Given the description of an element on the screen output the (x, y) to click on. 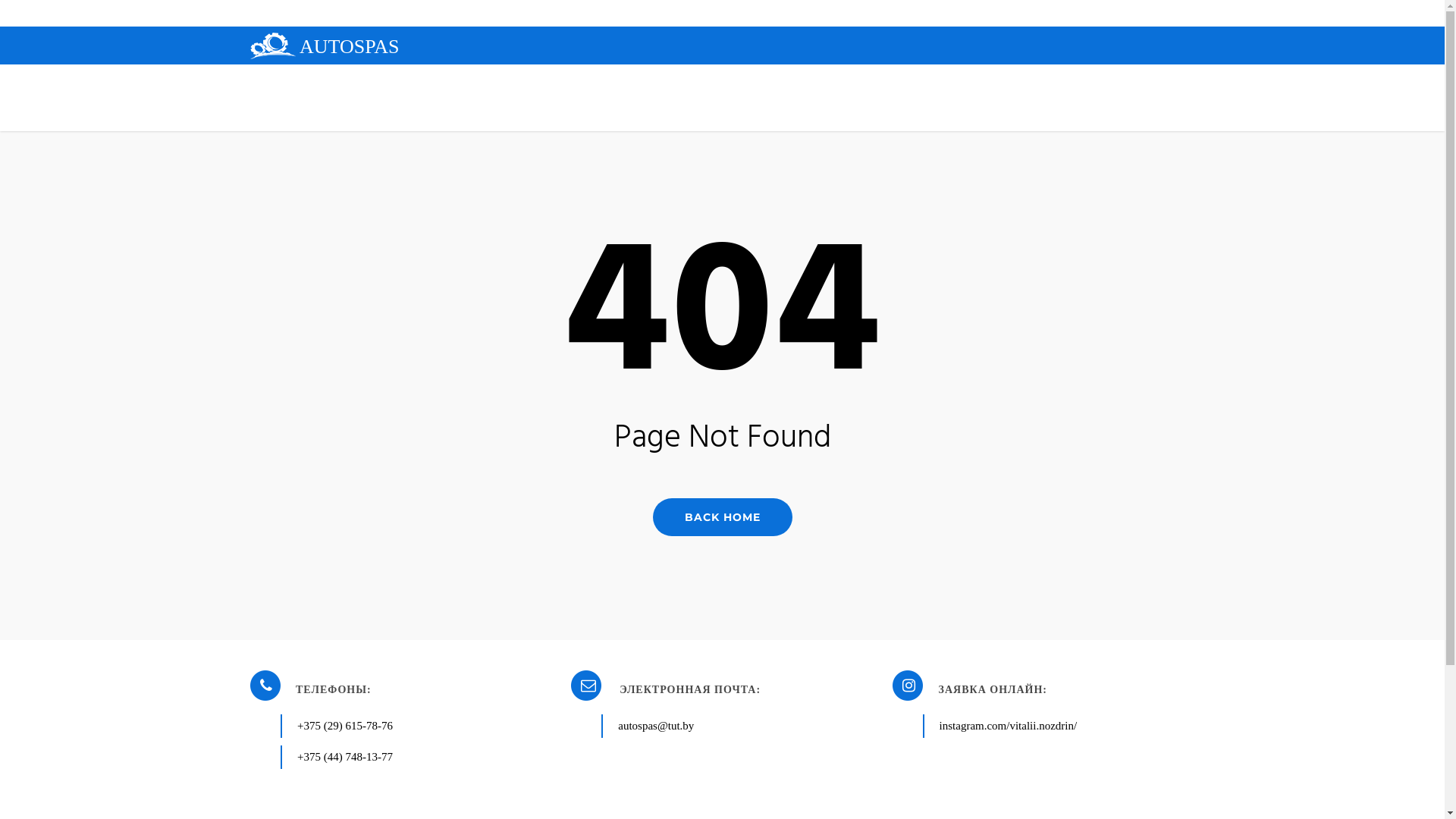
+375 (29) 615-78-76 Element type: text (344, 725)
AUTOSPAS Element type: text (324, 48)
+375 (44) 748-13-77 Element type: text (344, 756)
BACK HOME Element type: text (721, 516)
+375 ( 29 ) 615 - 78 - 76 Element type: text (648, 79)
+375 ( 44 ) 748 - 13 - 77 Element type: text (795, 79)
instagram.com/vitalii.nozdrin/ Element type: text (1008, 725)
autospas@tut.by Element type: text (655, 725)
